Given the description of an element on the screen output the (x, y) to click on. 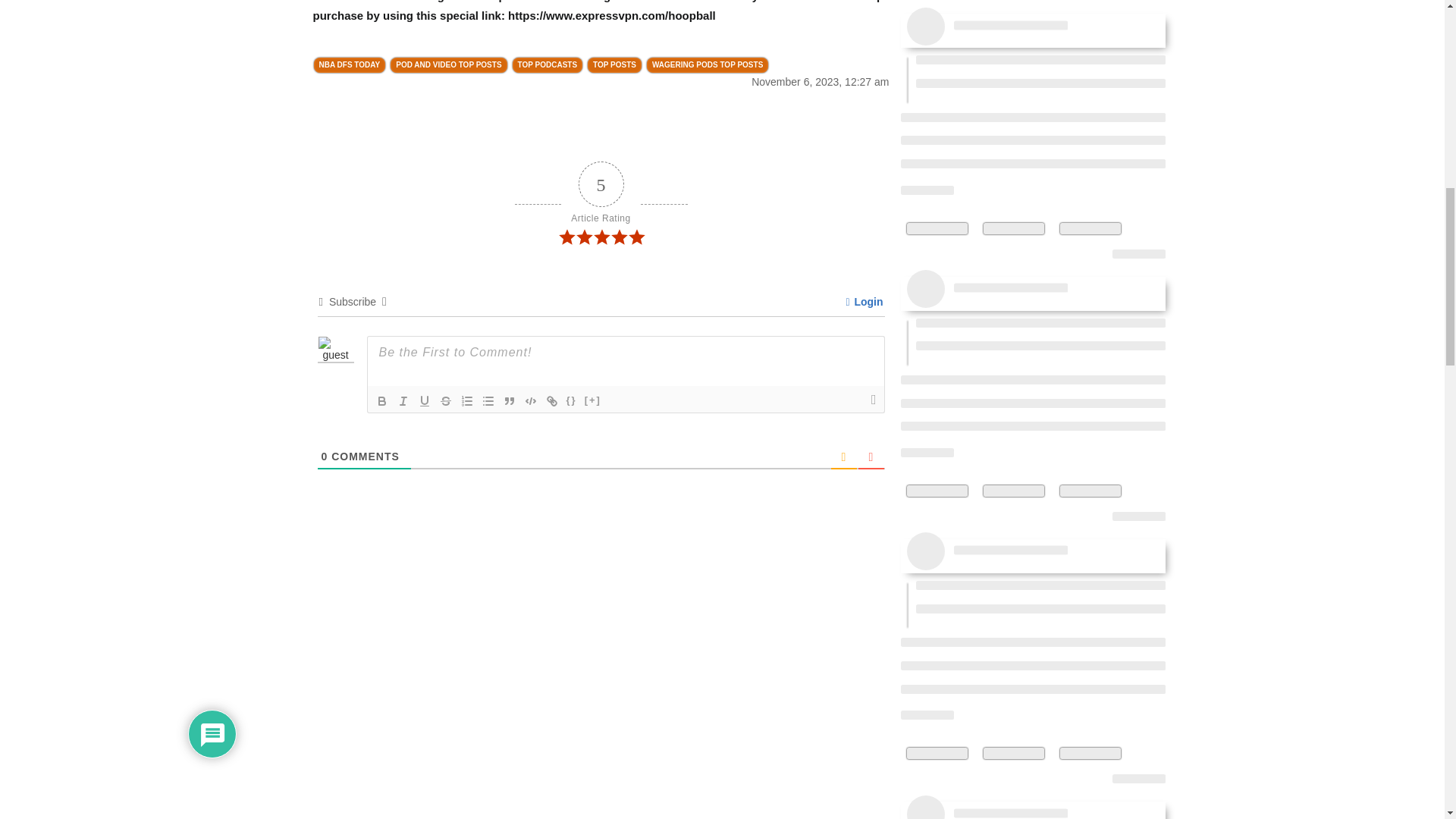
Underline (424, 401)
Bold (382, 401)
Strike (446, 401)
Source Code (571, 401)
Unordered List (488, 401)
Ordered List (467, 401)
Code Block (530, 401)
Spoiler (592, 401)
Link (551, 401)
Blockquote (509, 401)
Italic (403, 401)
